Given the description of an element on the screen output the (x, y) to click on. 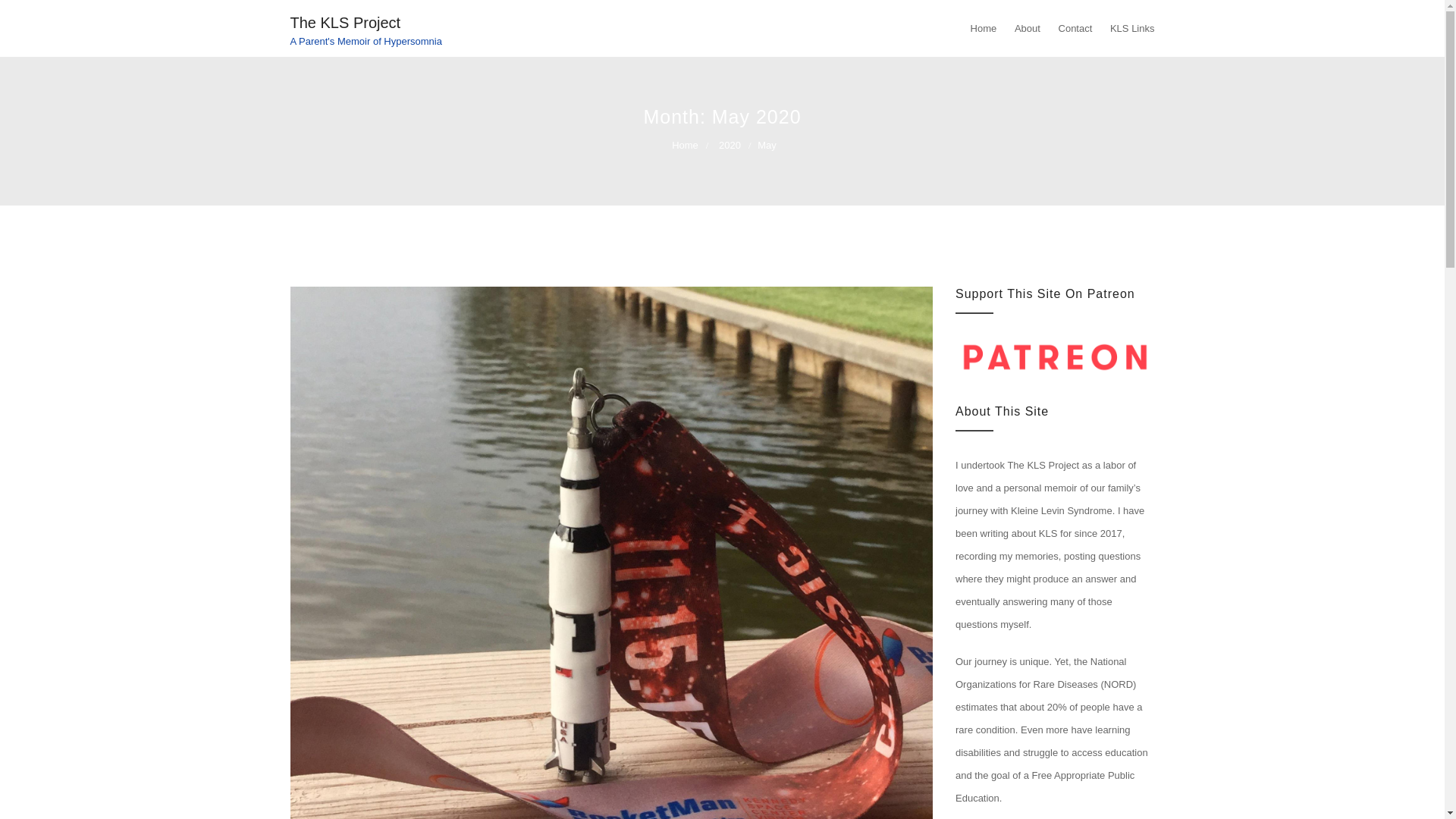
KLS Links (1128, 28)
Home (689, 144)
2020 (734, 144)
The KLS Project (344, 22)
